Given the description of an element on the screen output the (x, y) to click on. 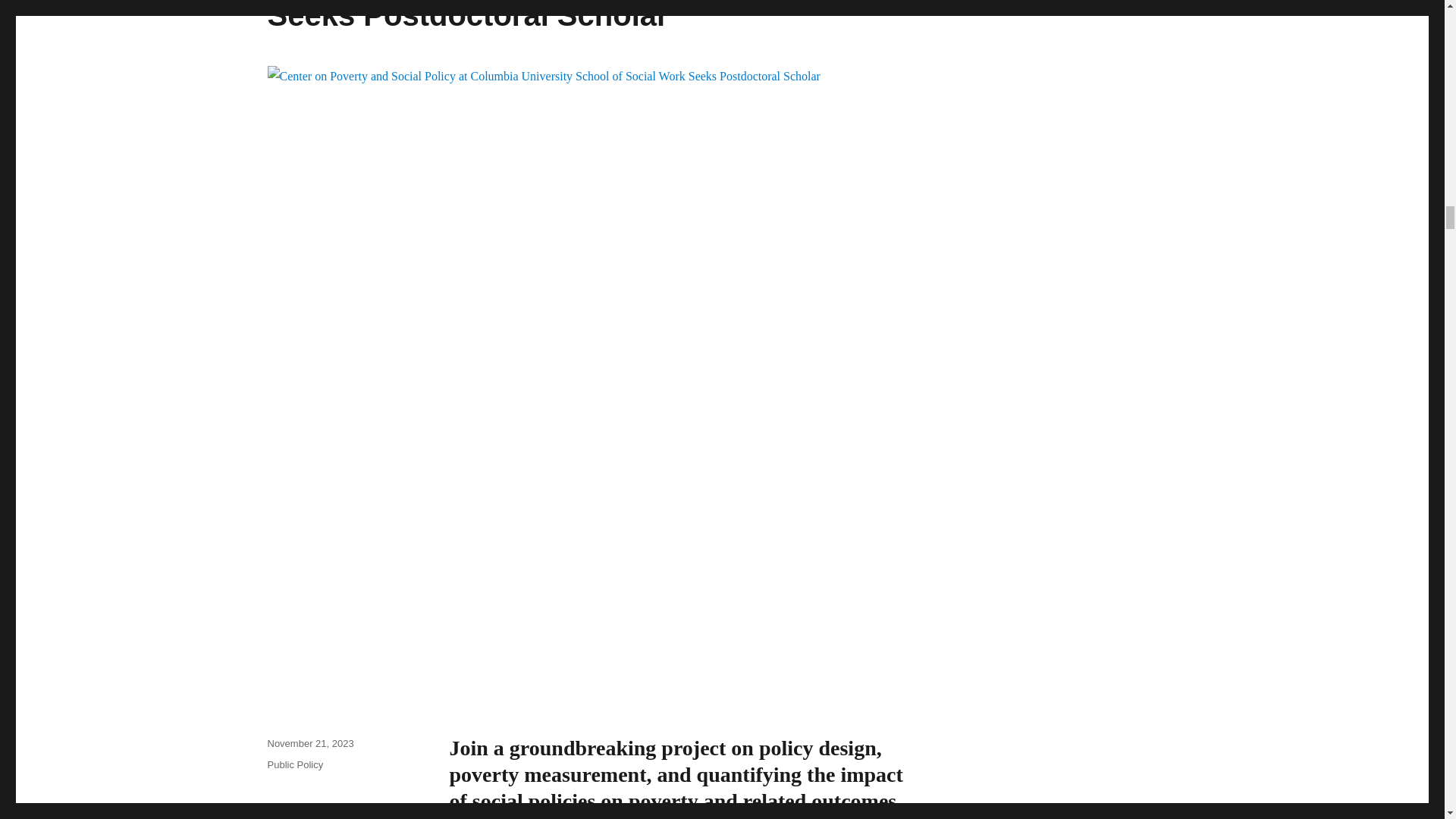
Public Policy (294, 764)
November 21, 2023 (309, 743)
